Given the description of an element on the screen output the (x, y) to click on. 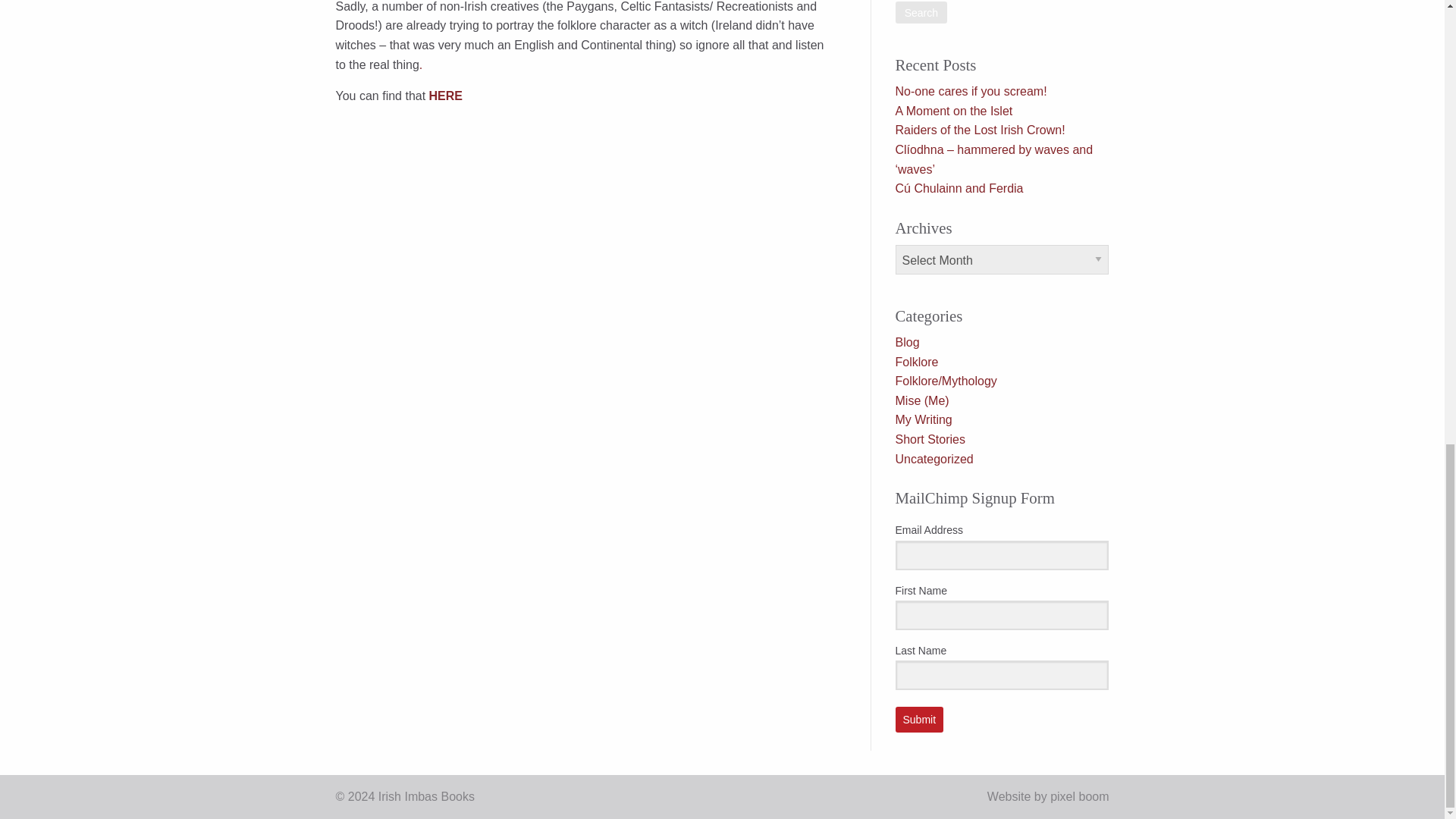
Search (921, 12)
Search (921, 12)
